Given the description of an element on the screen output the (x, y) to click on. 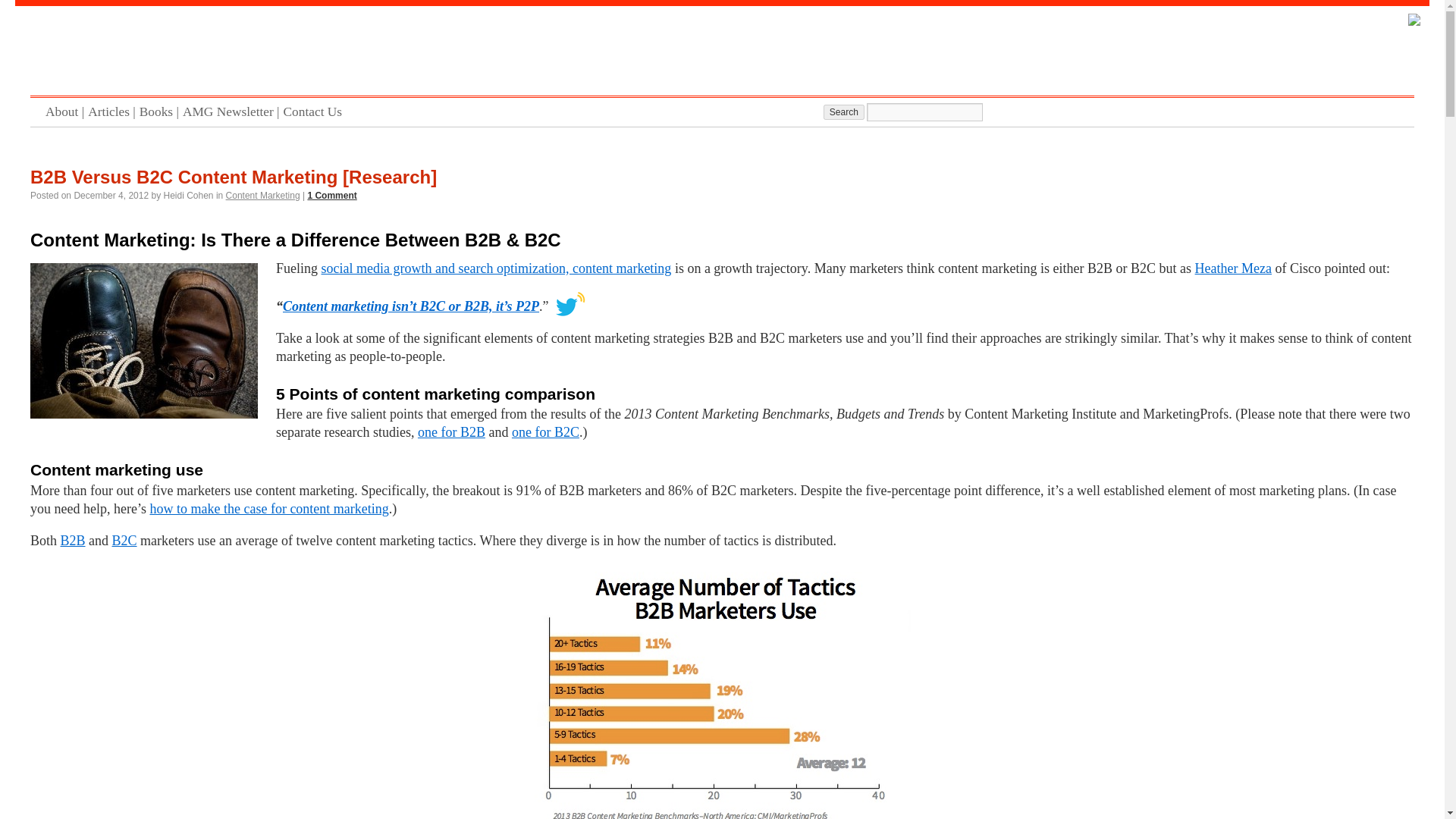
Heather Meza (1233, 268)
AMG Newsletter (233, 111)
how to make the case for content marketing (268, 508)
B2C (124, 540)
Contact Us (314, 111)
About (66, 111)
Content Marketing (262, 195)
same but different (143, 340)
